Given the description of an element on the screen output the (x, y) to click on. 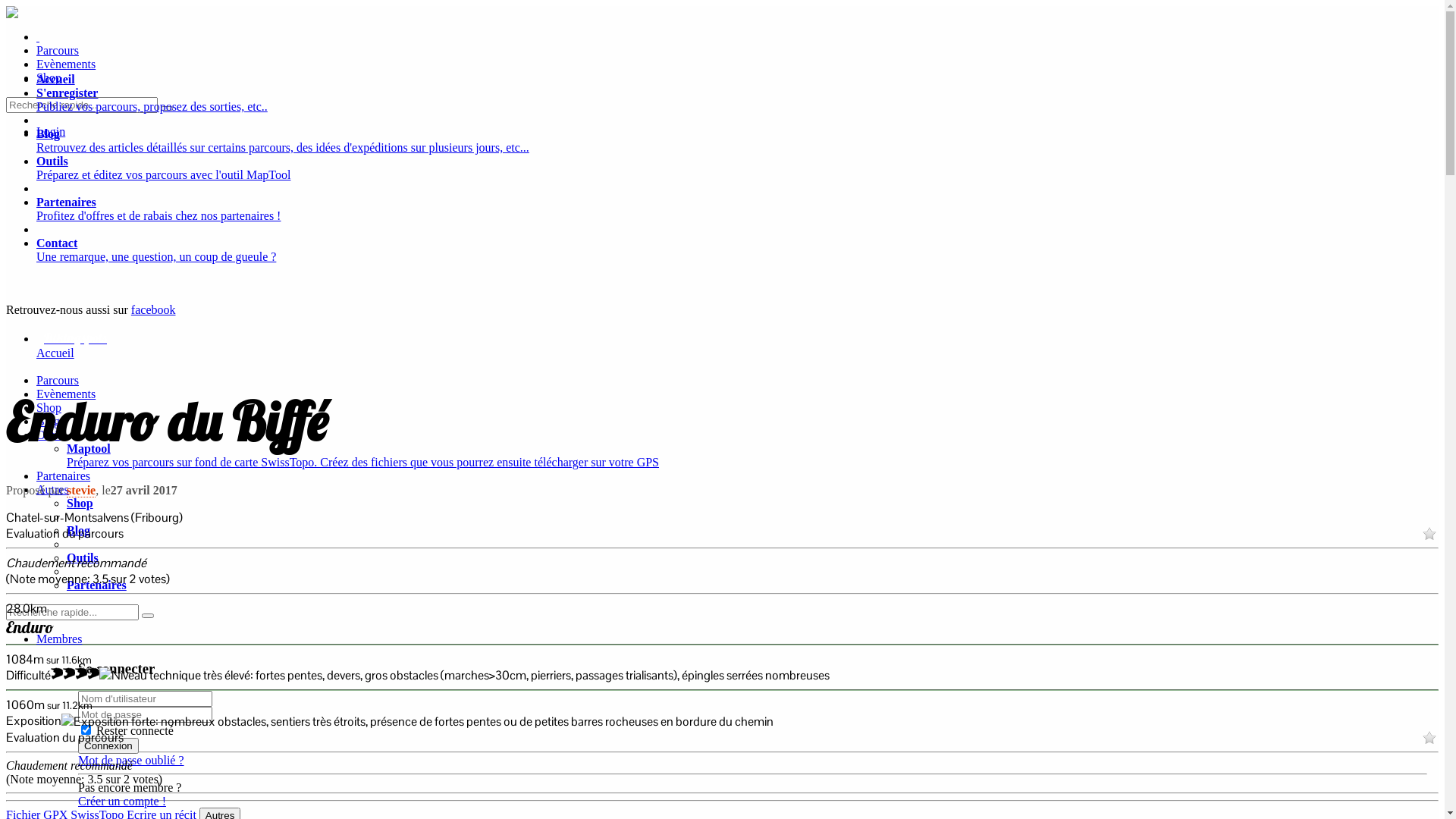
Membres Element type: text (58, 638)
Parcours Element type: text (57, 49)
Shop Element type: text (79, 502)
Shop Element type: text (48, 77)
Outils Element type: text (50, 434)
Blog Element type: text (47, 420)
stevie Element type: text (80, 490)
Autres Element type: text (52, 489)
Bikingspots
Accueil Element type: text (737, 352)
Login Element type: text (50, 131)
Shop Element type: text (48, 407)
Accueil Element type: text (55, 78)
Connexion Element type: text (108, 745)
  Element type: text (37, 36)
facebook Element type: text (153, 309)
Blog Element type: text (78, 530)
Partenaires Element type: text (63, 475)
Partenaires Element type: text (96, 584)
Parcours Element type: text (57, 379)
Contact
Une remarque, une question, un coup de gueule ? Element type: text (737, 249)
Outils Element type: text (82, 557)
